Given the description of an element on the screen output the (x, y) to click on. 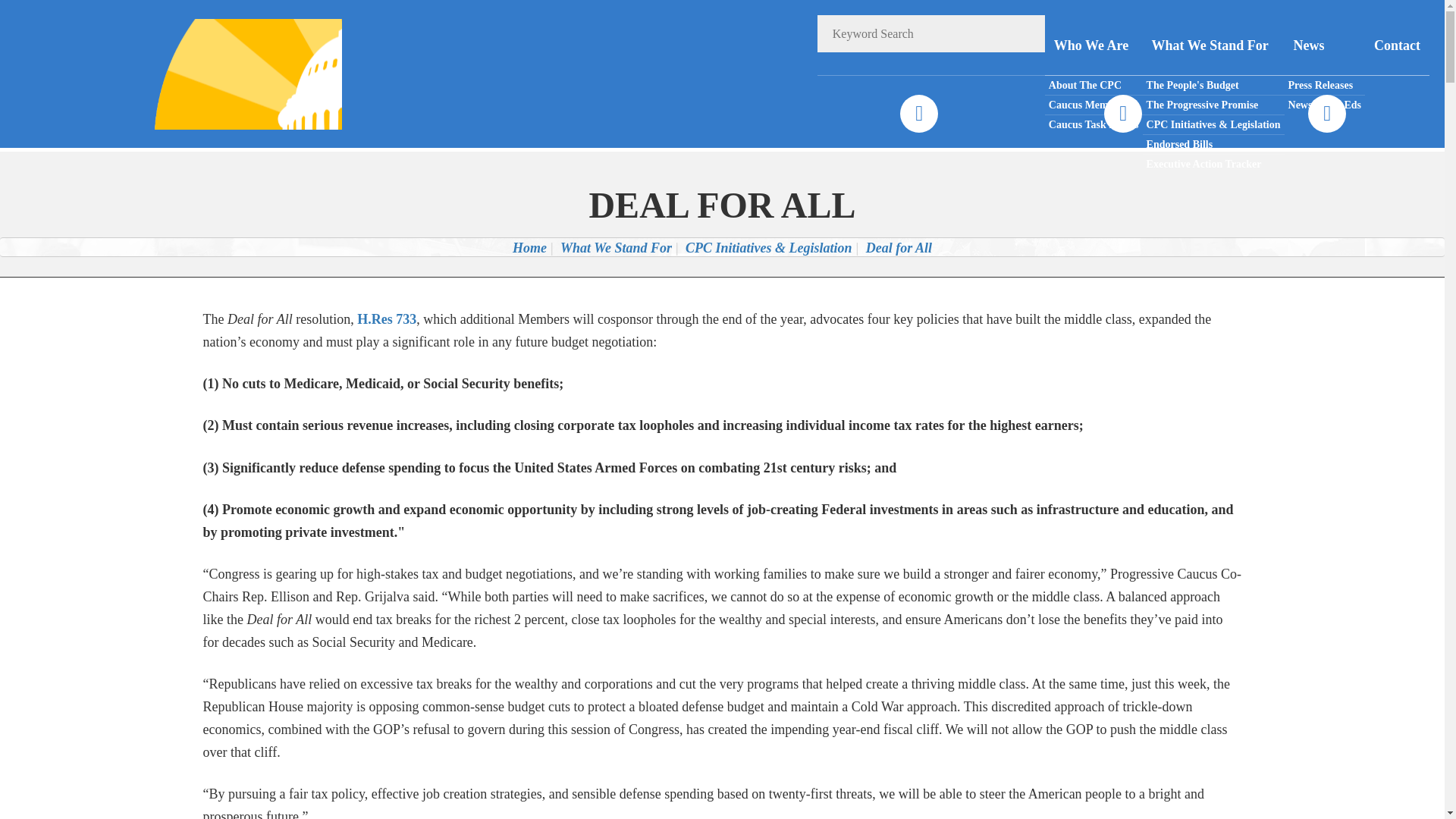
Caucus Members (1093, 105)
News (1324, 45)
Caucus Task Forces (1093, 124)
Who We Are (1093, 45)
Twitter (1122, 113)
What We Stand For (1213, 45)
Contact (1397, 45)
YouTube (1326, 113)
DEAL FOR ALL (722, 205)
Go (1026, 33)
